Given the description of an element on the screen output the (x, y) to click on. 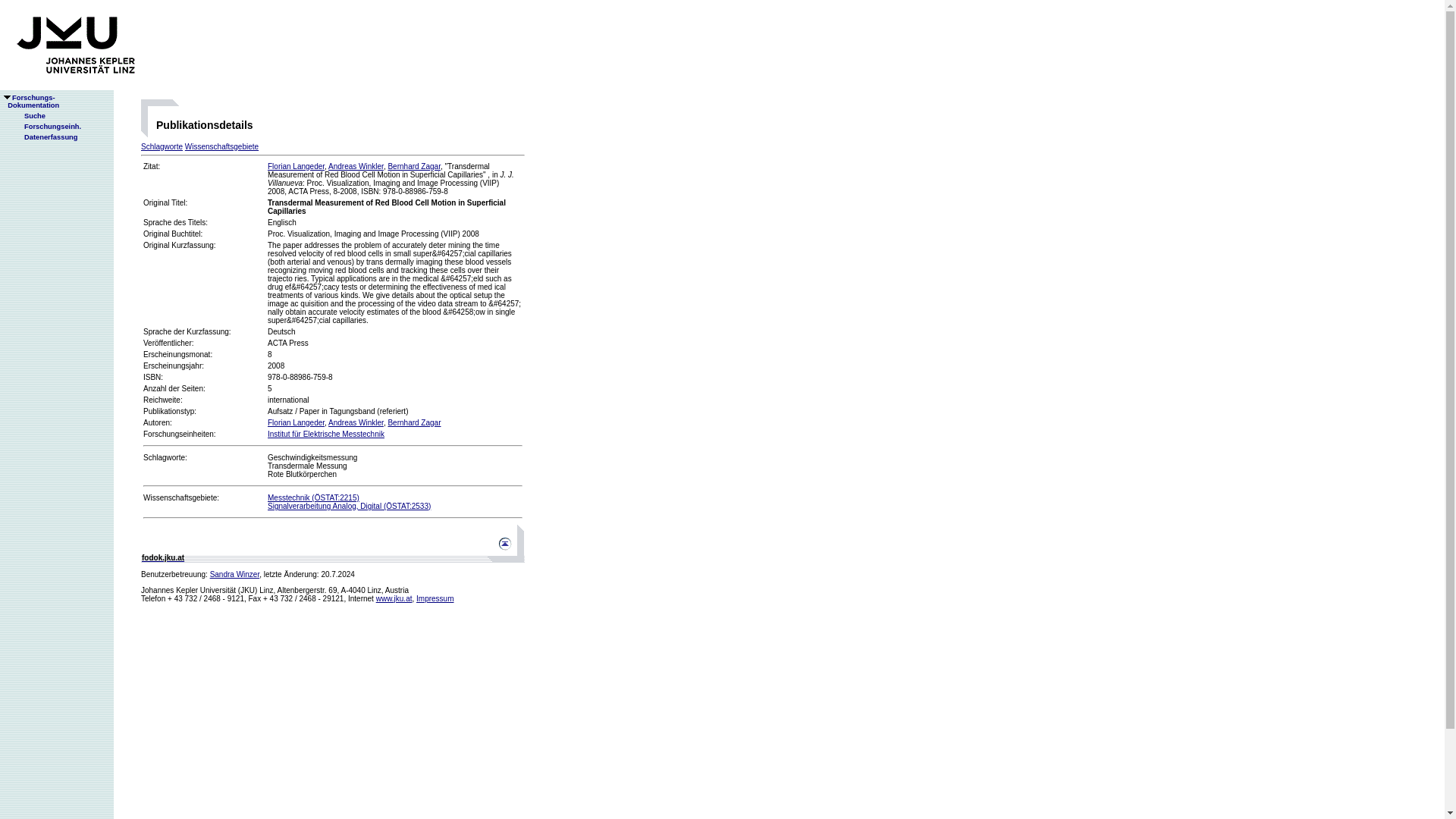
Suche (28, 115)
Florian Langeder (295, 166)
Bernhard Zagar (414, 422)
Sandra Winzer (234, 574)
Schlagworte (162, 146)
Forschungseinh. (46, 126)
Datenerfassung (44, 136)
www.jku.at (393, 598)
Schlagworte: (164, 457)
Andreas Winkler (356, 422)
Bernhard Zagar (414, 166)
Wissenschaftsgebiete: (180, 497)
Impressum (434, 598)
fodok.jku.at (162, 557)
